Given the description of an element on the screen output the (x, y) to click on. 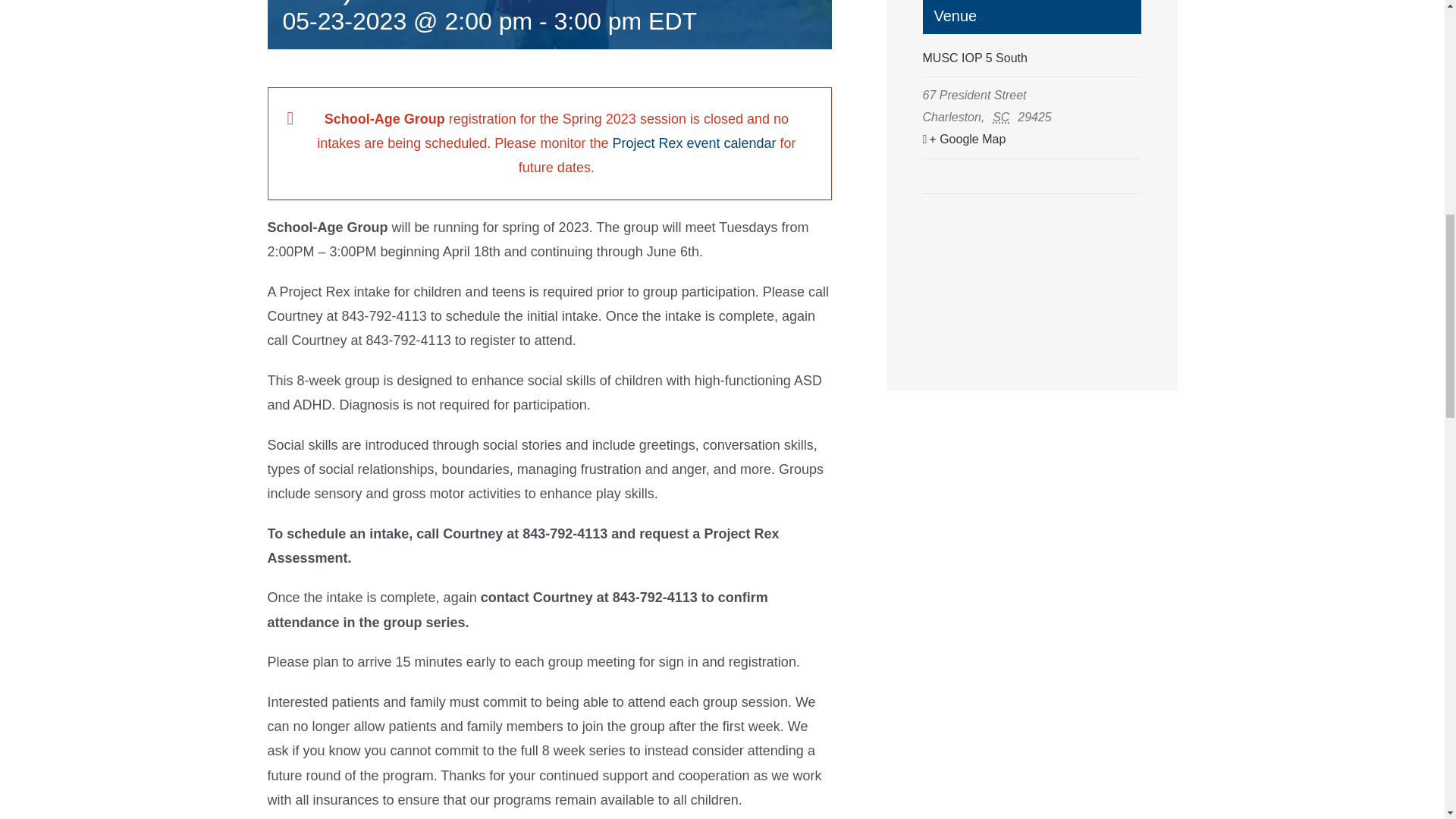
South Carolina (1003, 116)
Click to view a Google Map (1030, 139)
